Given the description of an element on the screen output the (x, y) to click on. 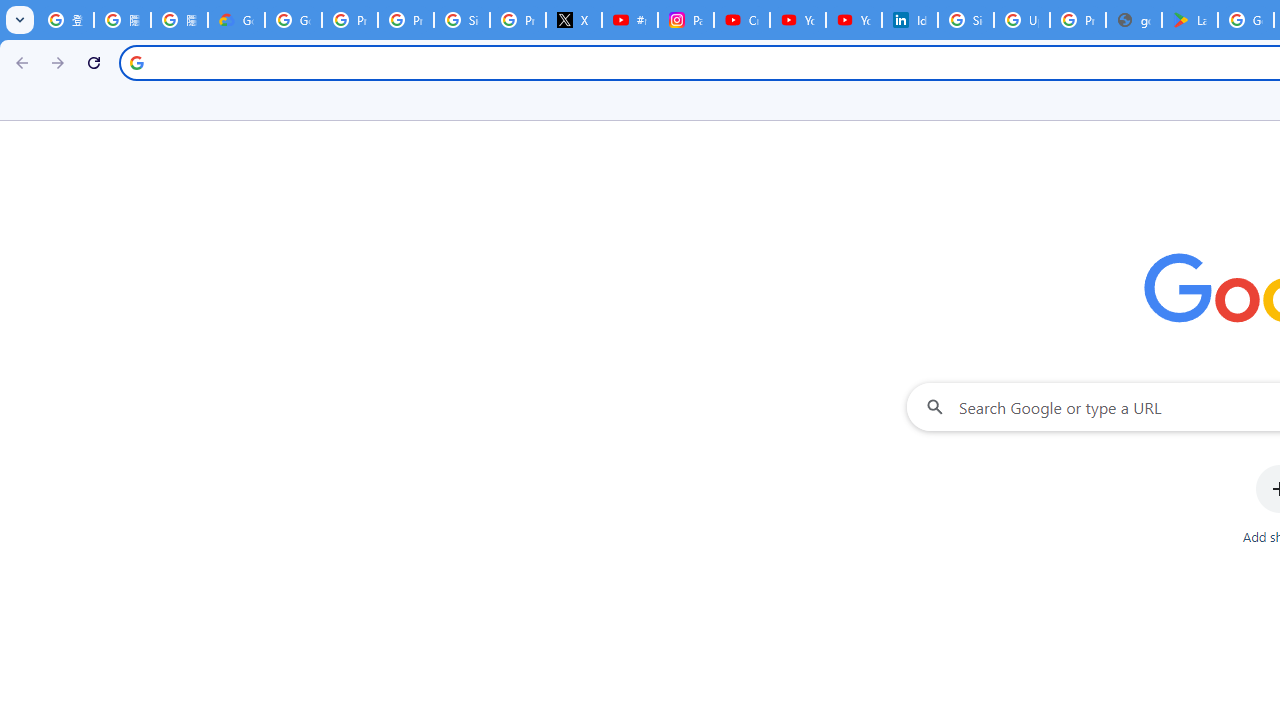
#nbabasketballhighlights - YouTube (629, 20)
Last Shelter: Survival - Apps on Google Play (1190, 20)
